Given the description of an element on the screen output the (x, y) to click on. 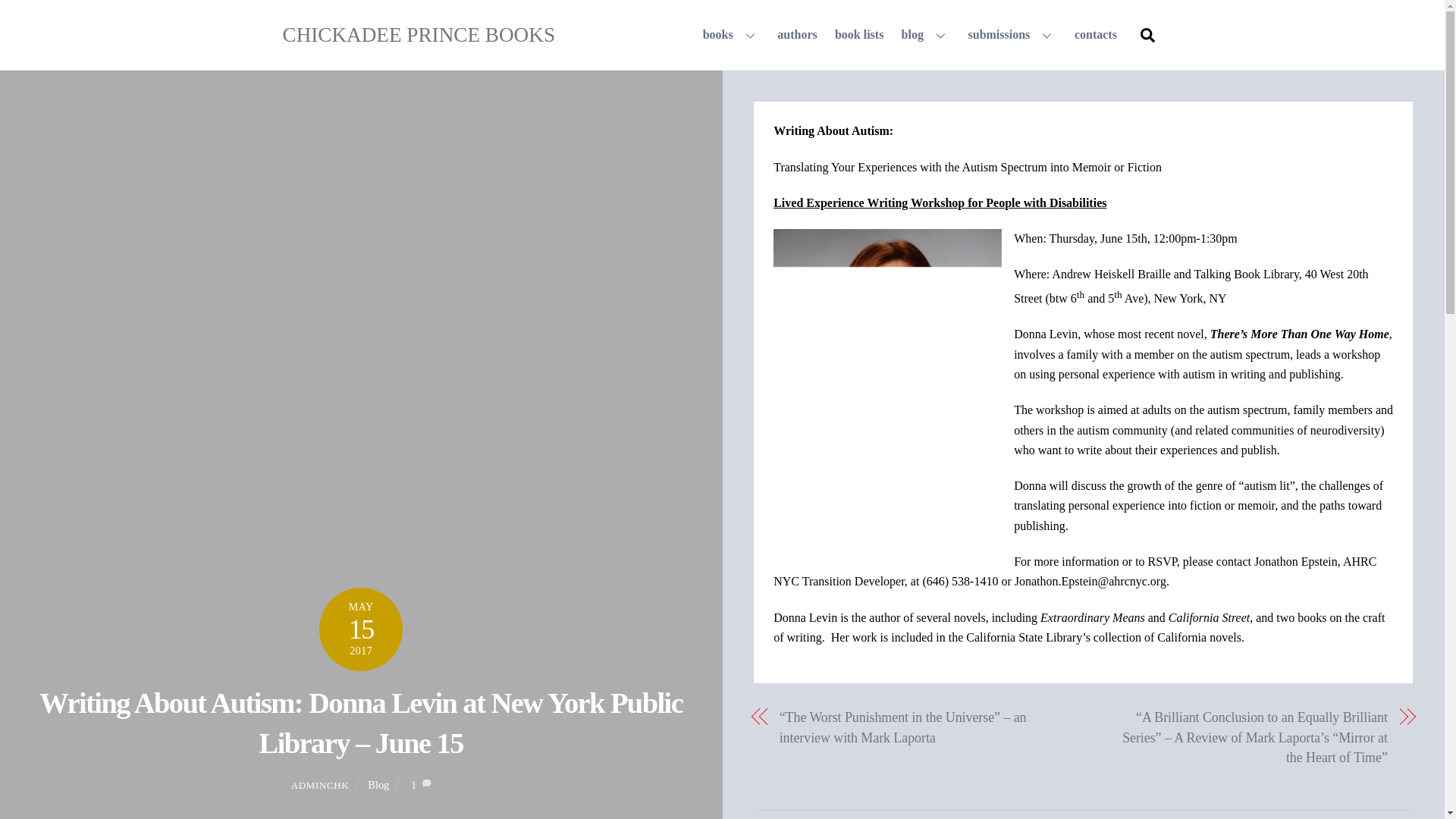
Blog (378, 784)
blog (925, 34)
ADMINCHK (320, 785)
Search (1146, 33)
contacts (1095, 34)
submissions (1012, 34)
Chickadee Prince Books (418, 34)
authors (865, 34)
books (797, 34)
